Given the description of an element on the screen output the (x, y) to click on. 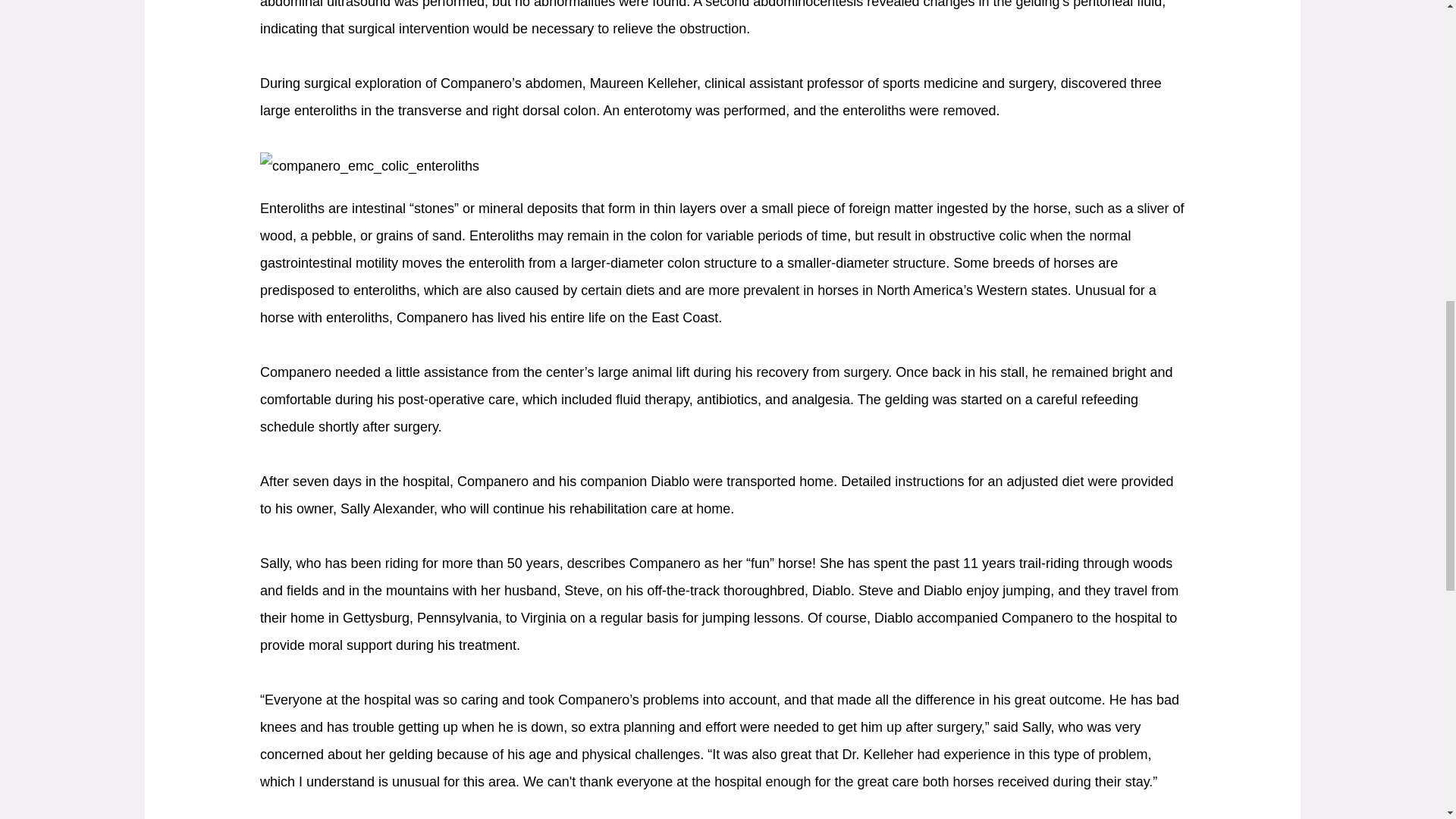
Companero   (369, 165)
